Given the description of an element on the screen output the (x, y) to click on. 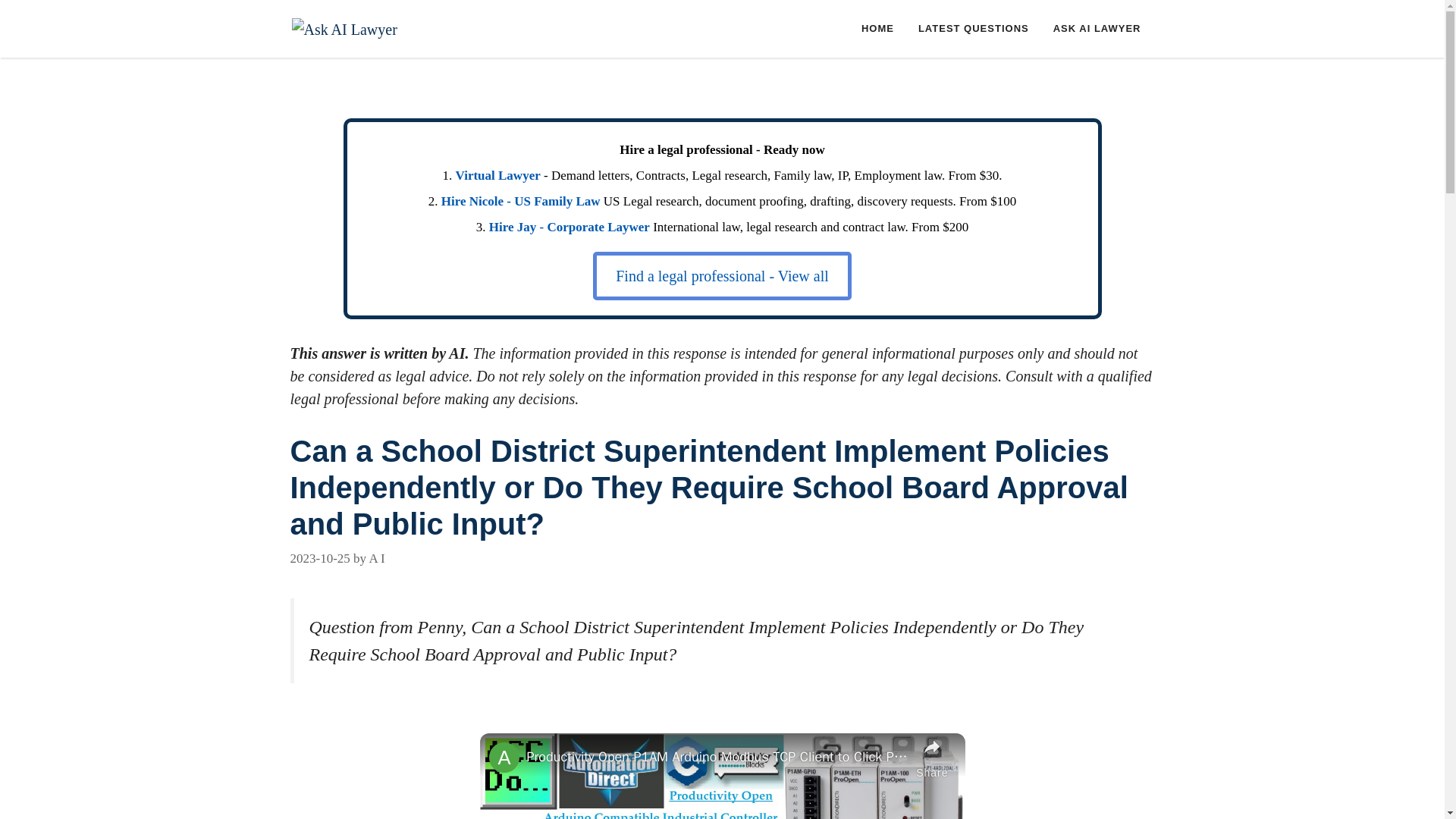
Hire Jay - Corporate Laywer (569, 227)
LATEST QUESTIONS (973, 28)
Virtual Lawyer (497, 175)
Hire Nicole - US Family Law (520, 201)
A I (376, 557)
ASK AI LAWYER (1097, 28)
Find a legal professional - View all (721, 275)
View all posts by A I (376, 557)
HOME (876, 28)
